Given the description of an element on the screen output the (x, y) to click on. 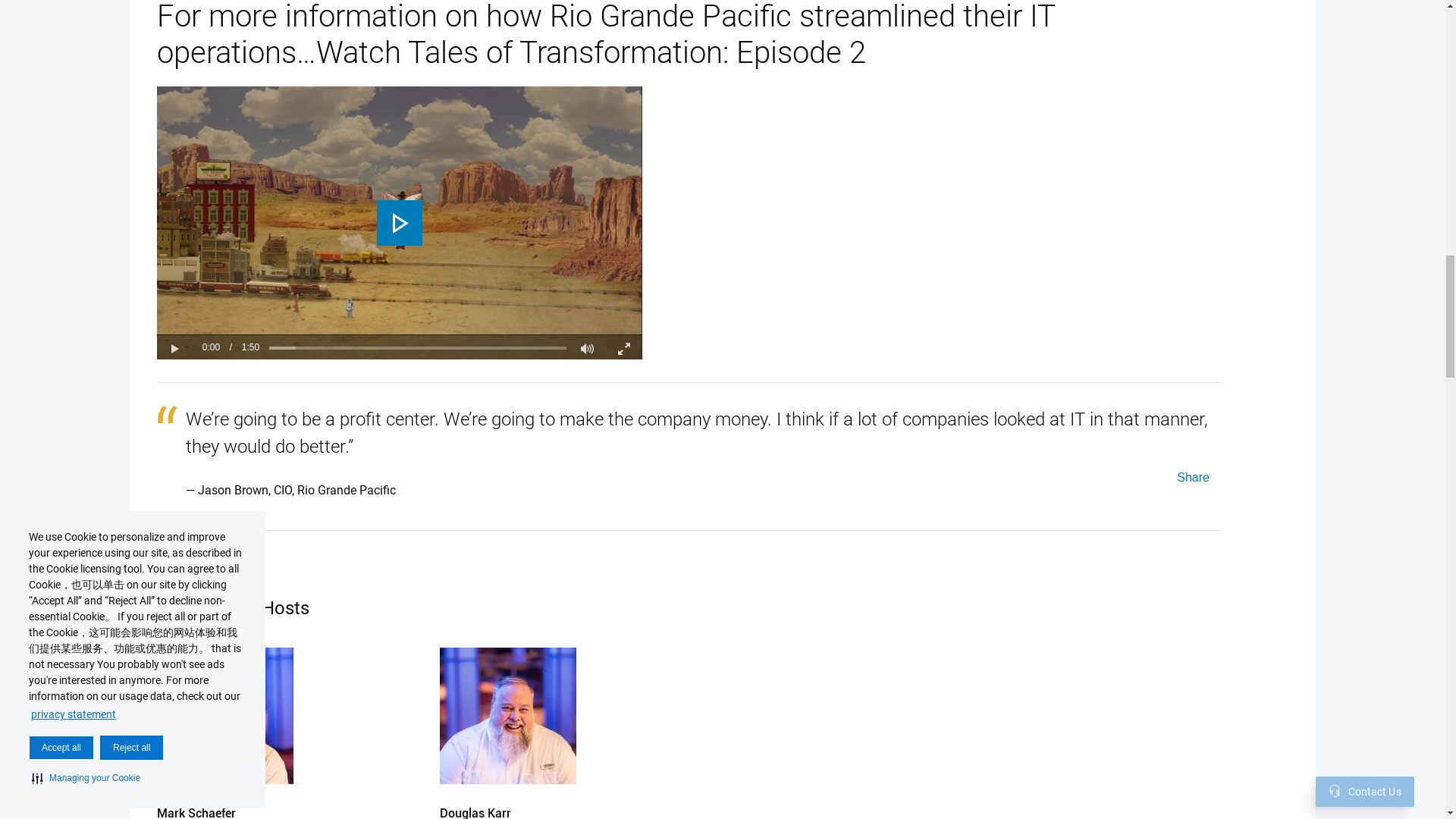
Mute (587, 347)
Play (173, 347)
Fullscreen (623, 347)
